Given the description of an element on the screen output the (x, y) to click on. 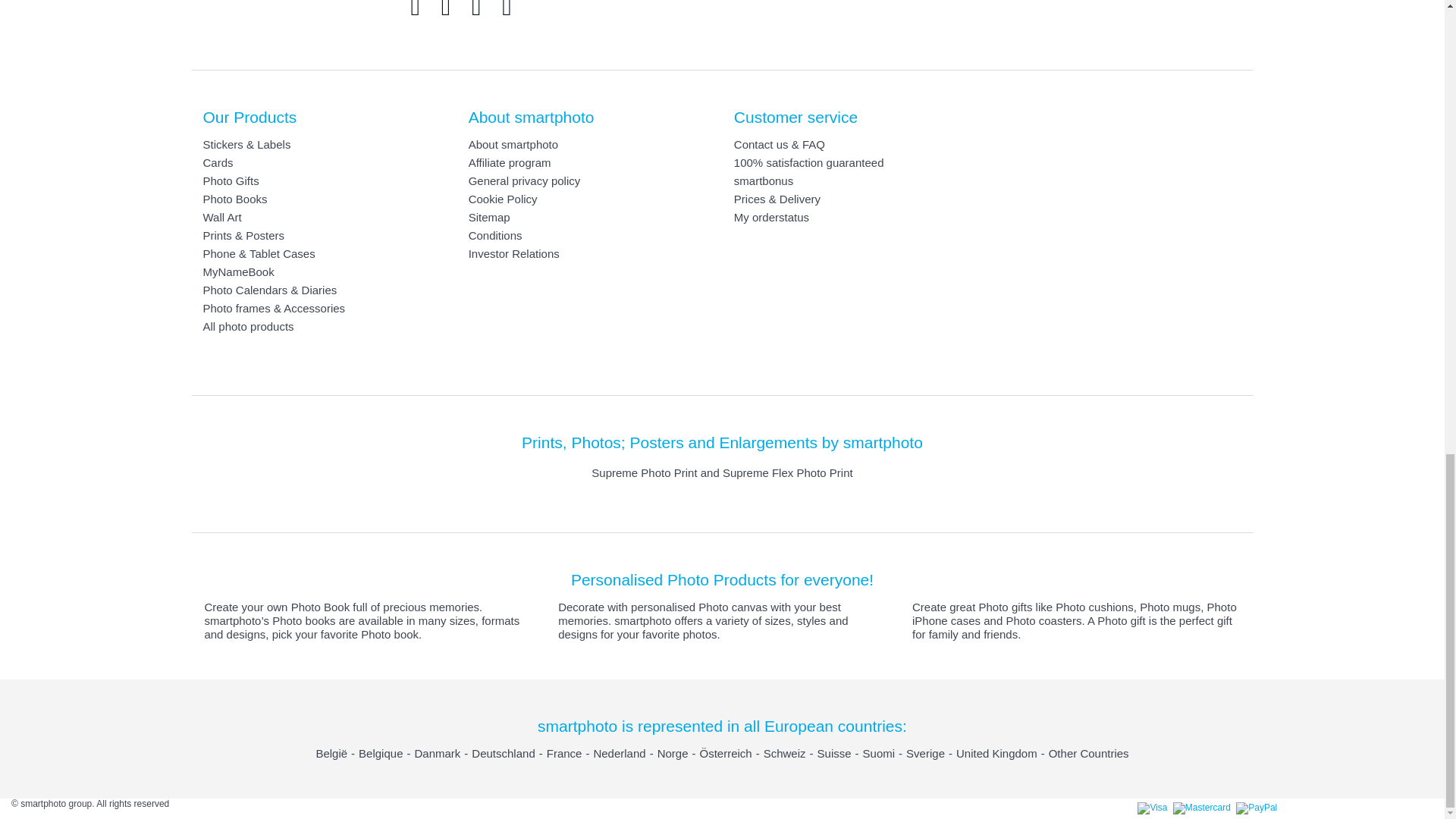
Belgique (380, 753)
All photo products (248, 326)
Visit to our youtube page (506, 9)
Deutschland (502, 753)
MyNameBook (239, 271)
Visit to our facebook page (446, 9)
Photo Gifts (231, 180)
Danmark (436, 753)
Visit to our blog page (476, 9)
FSC Certified (991, 5)
Cookie Policy (502, 198)
Affiliate program (509, 162)
General privacy policy (524, 180)
Wall Art (222, 216)
About smartphoto (512, 144)
